Given the description of an element on the screen output the (x, y) to click on. 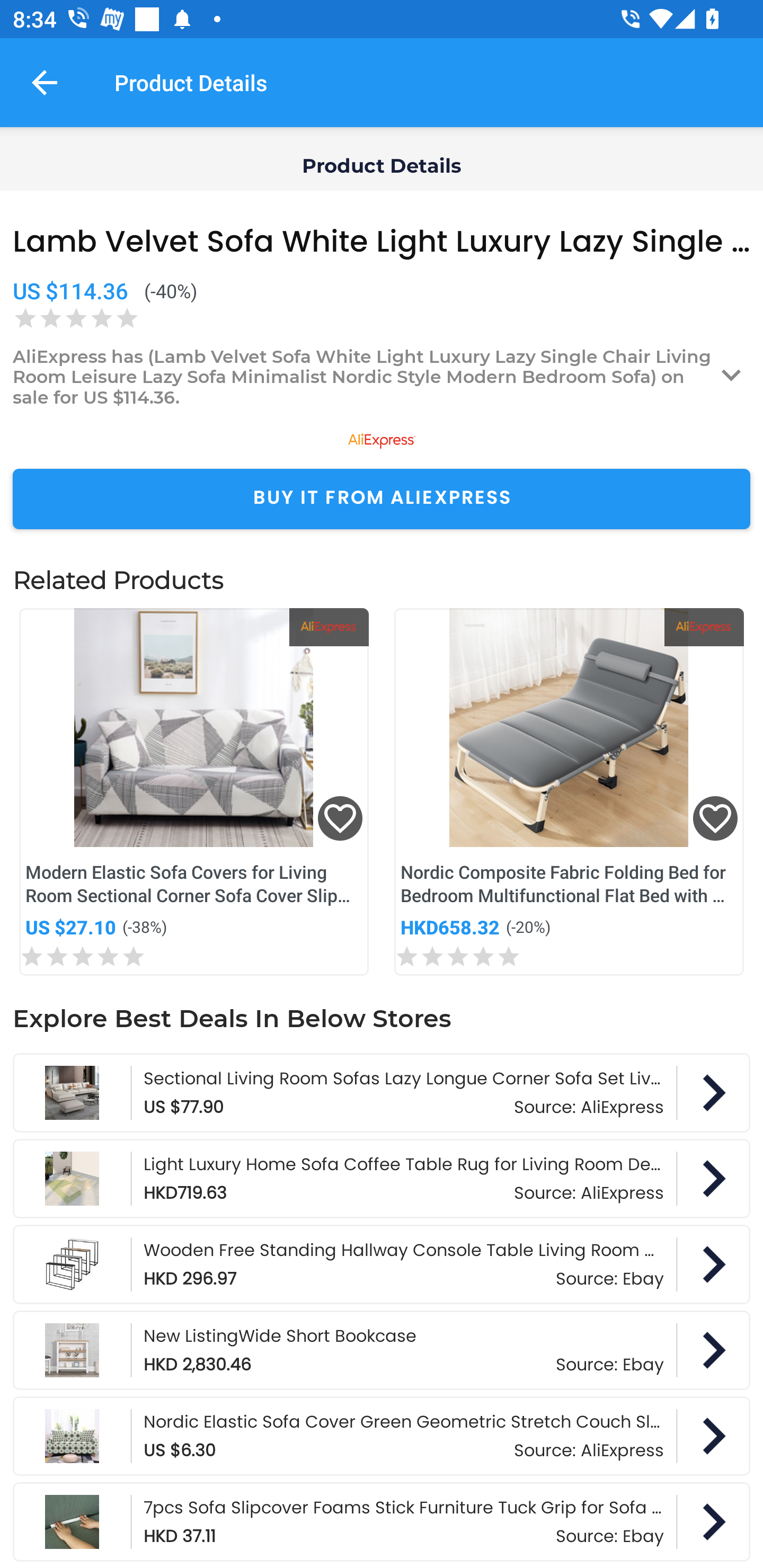
Navigate up (44, 82)
BUY IT FROM ALIEXPRESS (381, 499)
